Given the description of an element on the screen output the (x, y) to click on. 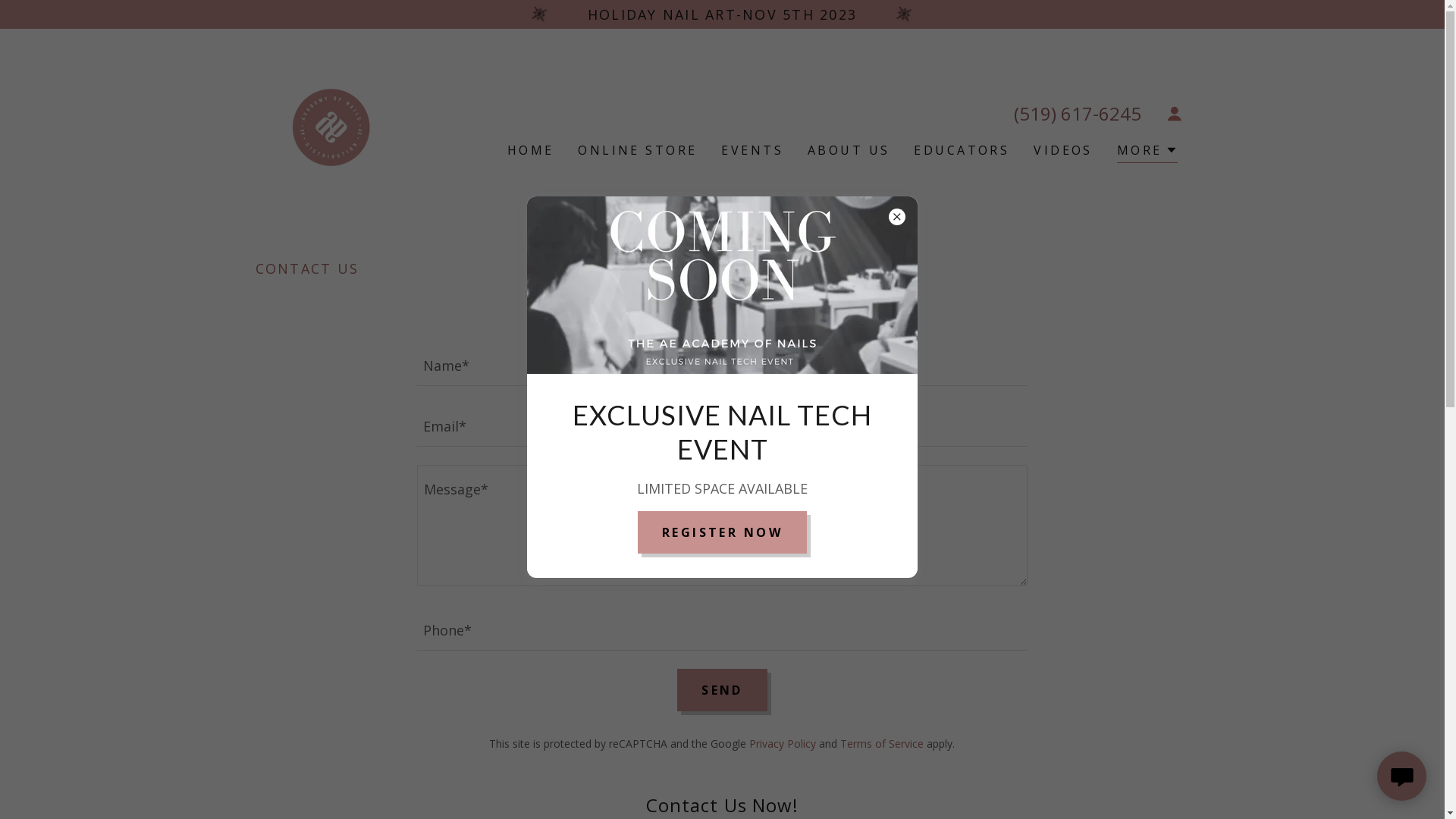
EDUCATORS Element type: text (961, 149)
HOLIDAY NAIL ART-NOV 5TH 2023 Element type: text (722, 14)
ONLINE STORE Element type: text (637, 149)
EVENTS Element type: text (751, 149)
REGISTER NOW Element type: text (721, 532)
MORE Element type: text (1147, 152)
HOME Element type: text (530, 149)
ABOUT US Element type: text (848, 149)
(519) 617-6245 Element type: text (1076, 112)
VIDEOS Element type: text (1063, 149)
AE Academy of Nails Element type: hover (330, 127)
SEND Element type: text (722, 689)
Terms of Service Element type: text (881, 743)
Privacy Policy Element type: text (782, 743)
